Given the description of an element on the screen output the (x, y) to click on. 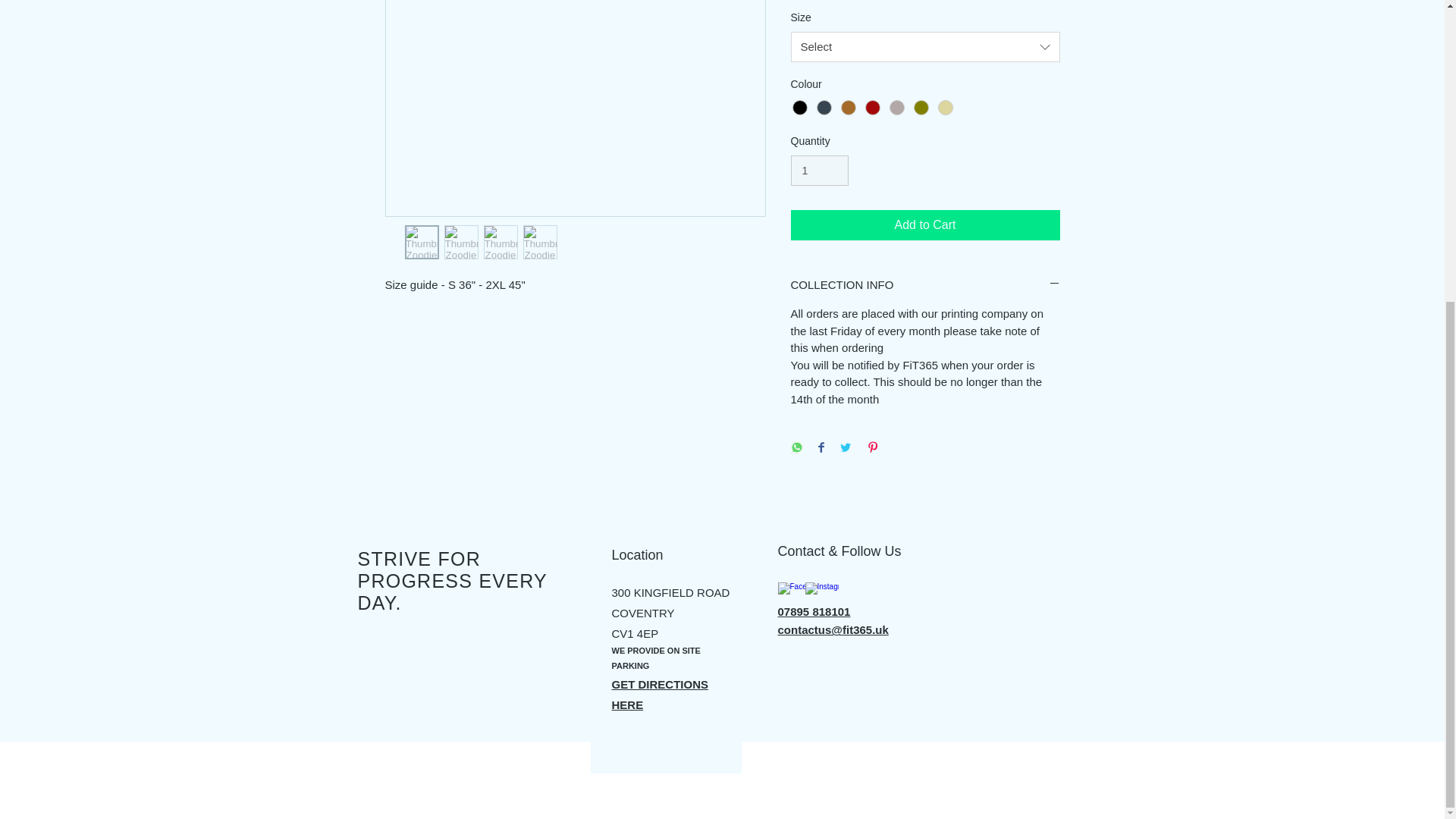
1 (818, 170)
07895 818101 (813, 611)
GET DIRECTIONS HERE (659, 694)
STRIVE FOR PROGRESS EVERY DAY. (452, 580)
COLLECTION INFO (924, 284)
Select (924, 46)
Add to Cart (924, 224)
